Given the description of an element on the screen output the (x, y) to click on. 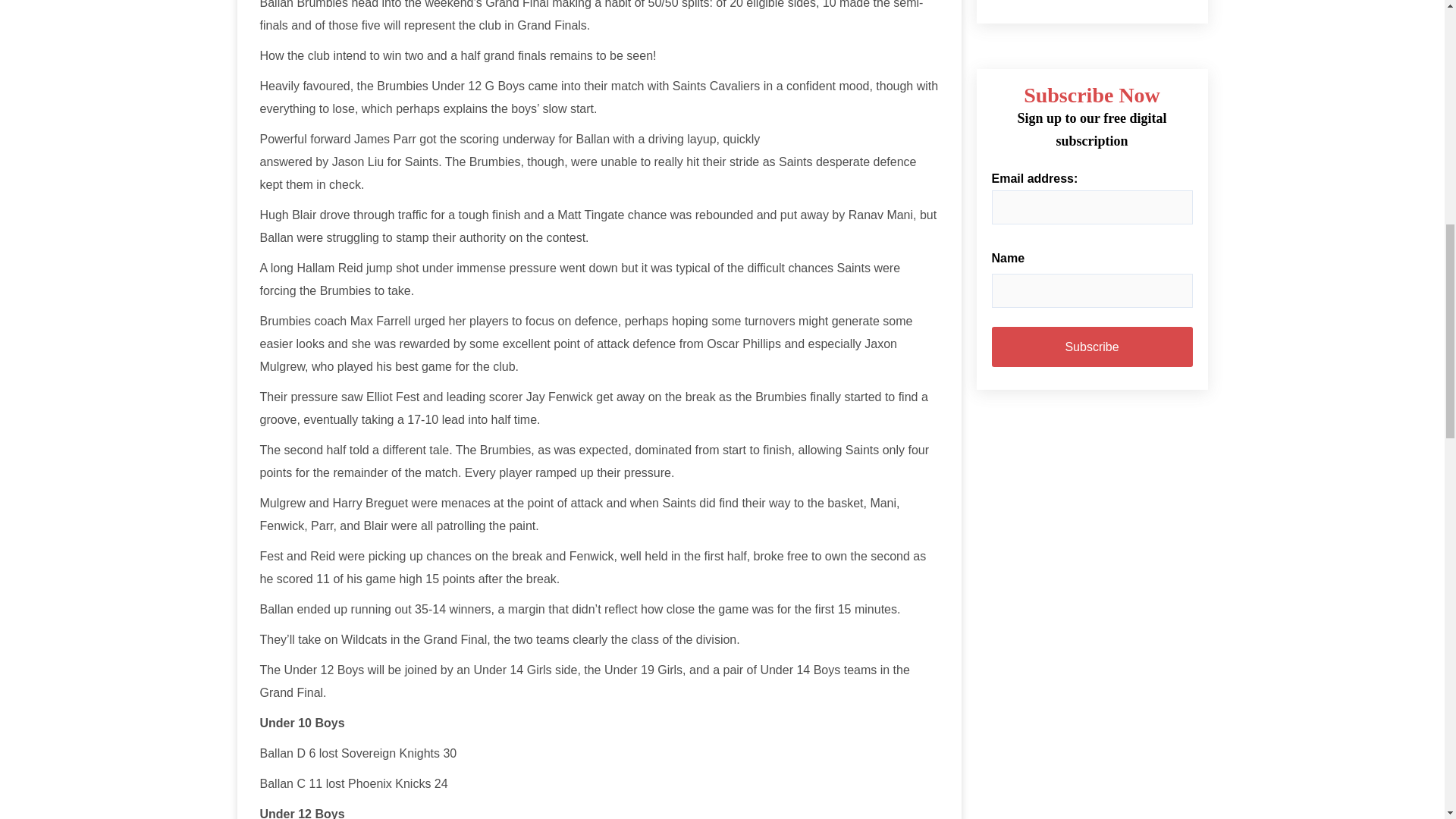
Subscribe (1091, 346)
Subscribe (1091, 346)
